Given the description of an element on the screen output the (x, y) to click on. 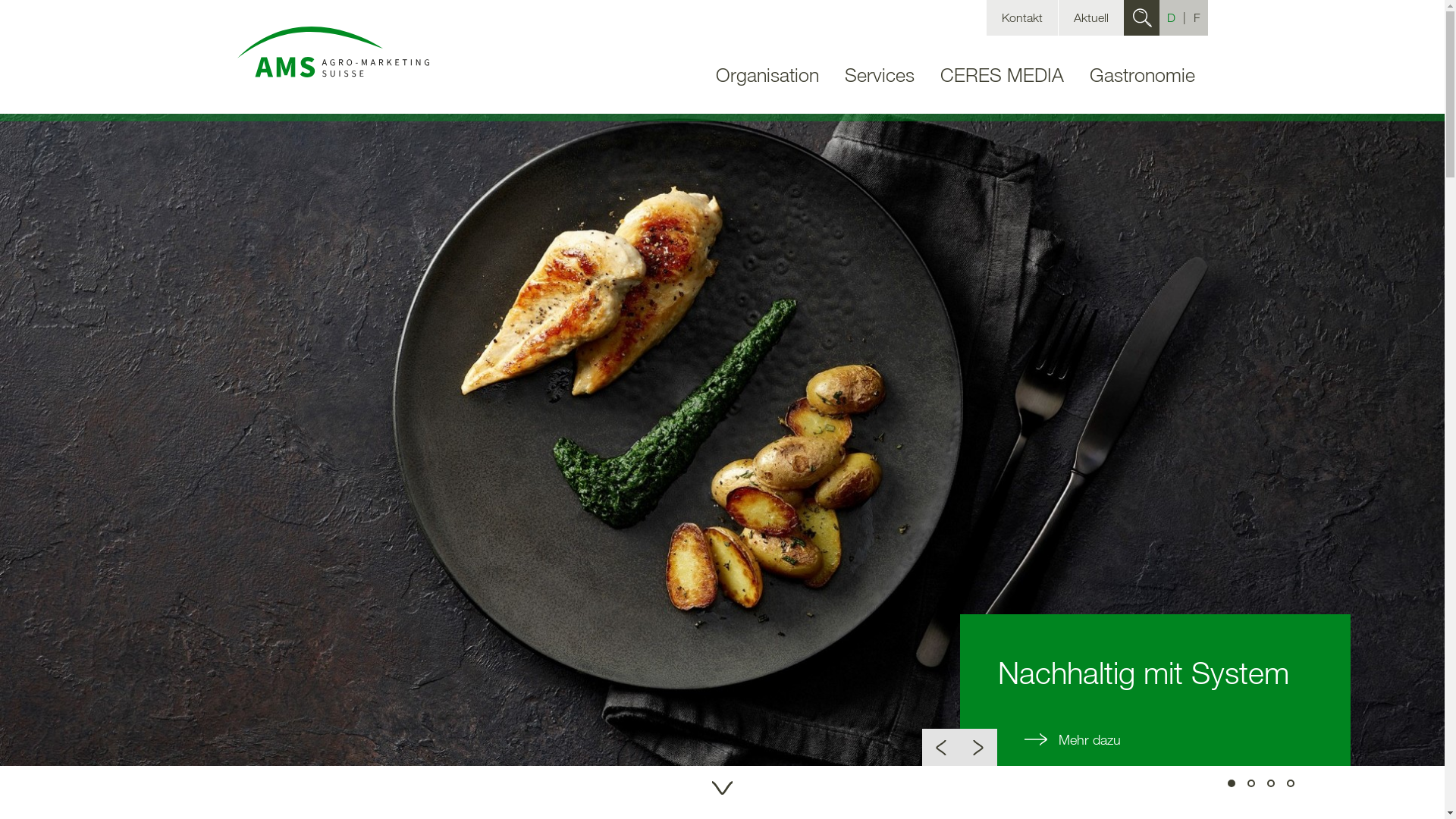
D Element type: text (1171, 17)
Gastronomie Element type: text (1142, 85)
F Element type: text (1197, 17)
Kontakt Element type: text (1021, 17)
CERES MEDIA Element type: text (1001, 85)
Services Element type: text (878, 85)
Organisation Element type: text (766, 85)
Aktuell Element type: text (1090, 17)
